Given the description of an element on the screen output the (x, y) to click on. 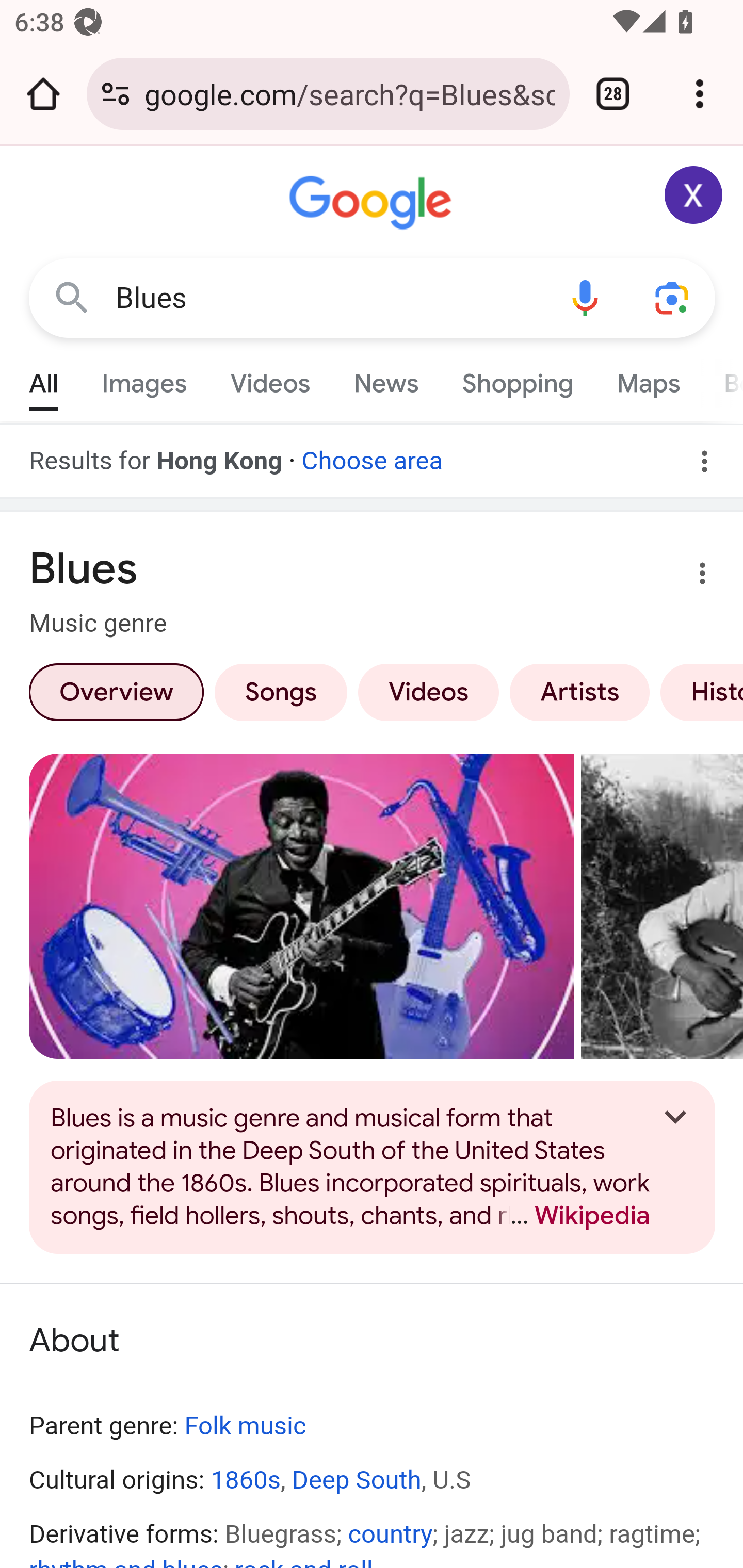
Open the home page (43, 93)
Connection is secure (115, 93)
Switch or close tabs (612, 93)
Customize and control Google Chrome (699, 93)
Google (372, 203)
Google Account: Xiaoran (zxrappiumtest@gmail.com) (694, 195)
Google Search (71, 296)
Search using your camera or photos (672, 296)
Blues (328, 297)
Images (144, 378)
Videos (270, 378)
News (385, 378)
Shopping (516, 378)
Maps (647, 378)
Choose area (371, 453)
More options (690, 576)
Overview (116, 691)
Songs (280, 691)
Videos (428, 691)
Artists (579, 691)
History (698, 691)
Wikipedia (572, 1214)
Folk music (245, 1425)
1860s (245, 1478)
Deep South (356, 1478)
country (389, 1533)
